Given the description of an element on the screen output the (x, y) to click on. 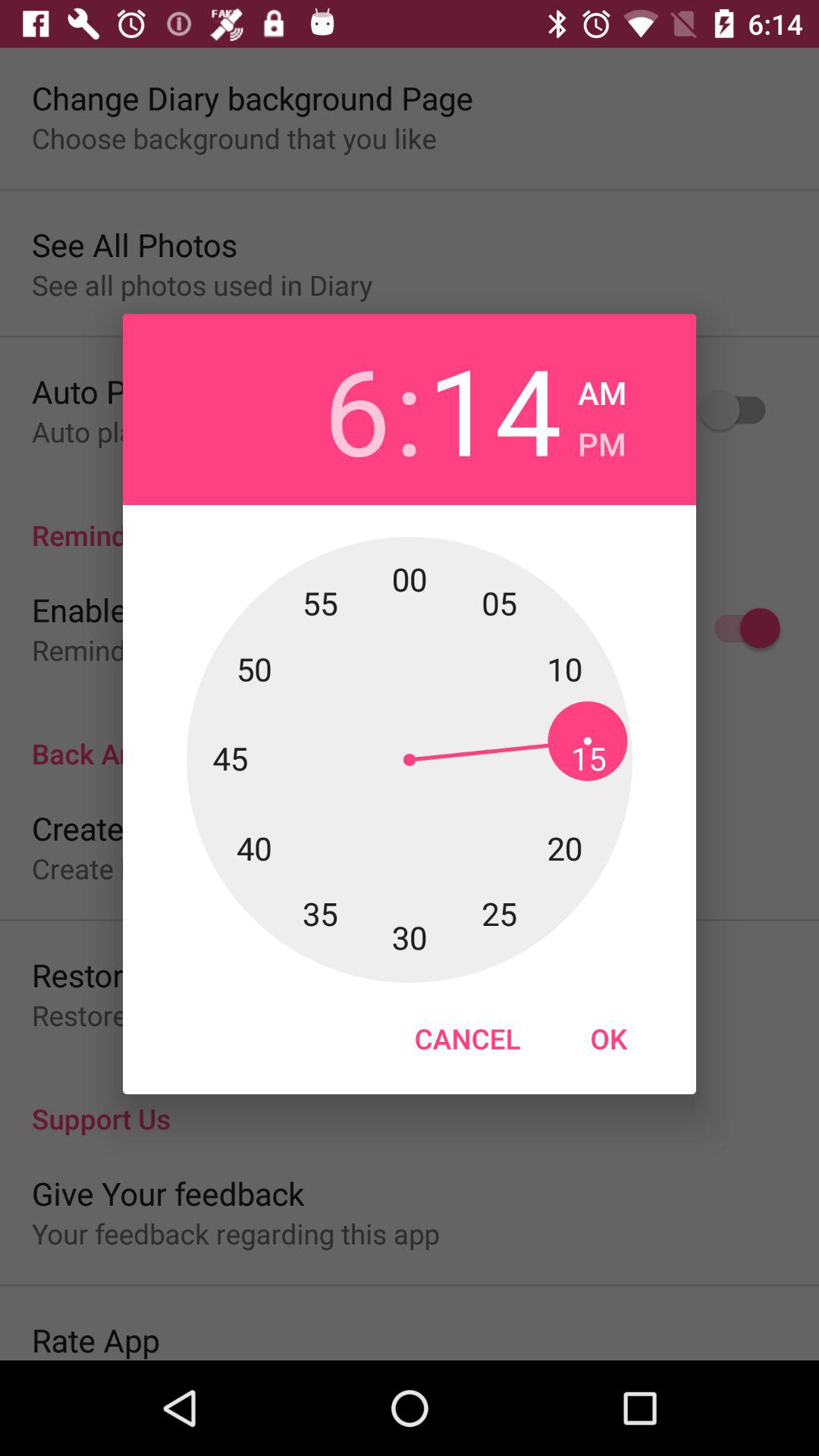
press the pm checkbox (601, 439)
